Given the description of an element on the screen output the (x, y) to click on. 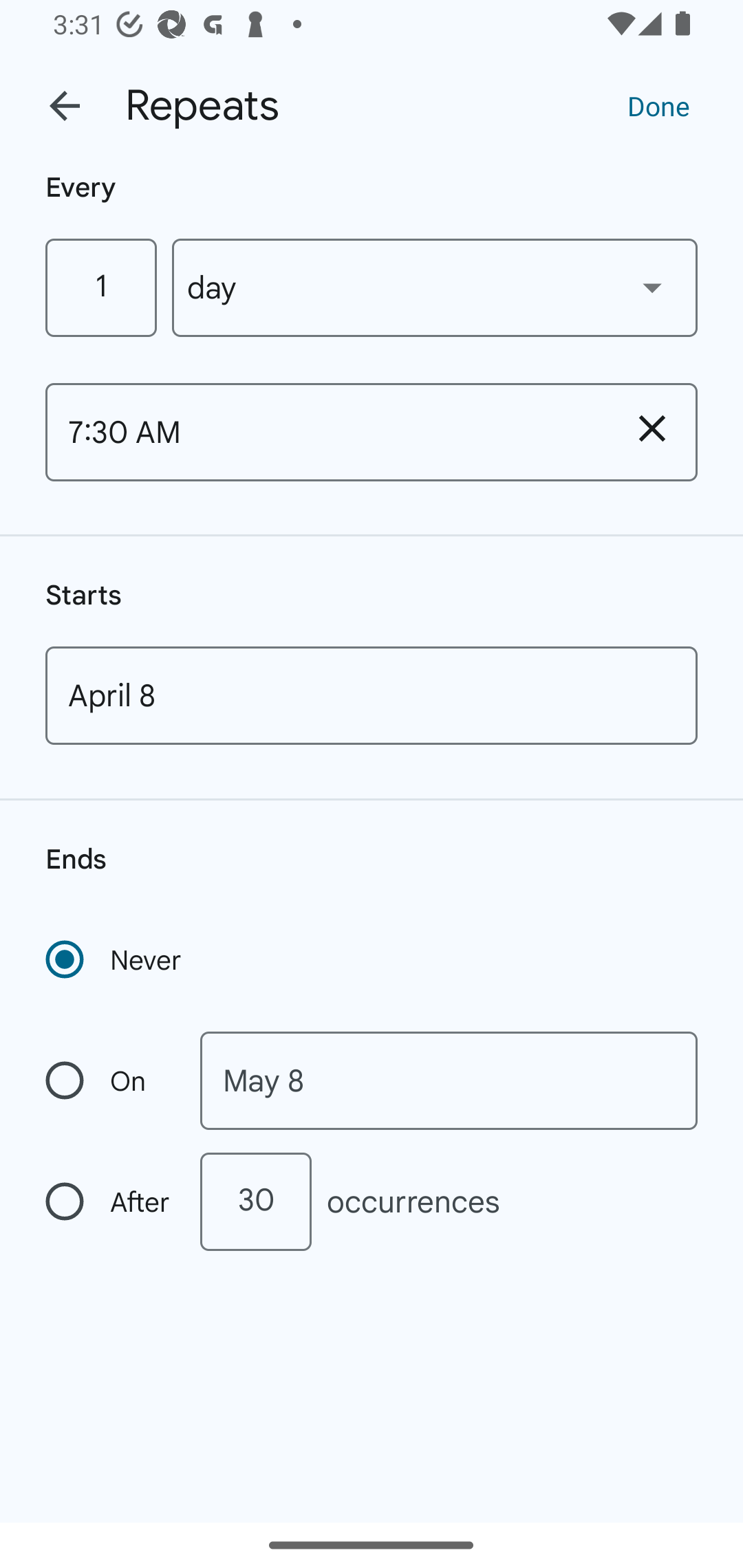
Back (64, 105)
Done (658, 105)
1 (100, 287)
day (434, 287)
Show dropdown menu (652, 286)
7:30 AM (326, 431)
Remove 7:30 AM (652, 427)
April 8 (371, 695)
Never Recurrence never ends (115, 959)
May 8 (448, 1080)
On Recurrence ends on a specific date (109, 1080)
30 (255, 1201)
